Given the description of an element on the screen output the (x, y) to click on. 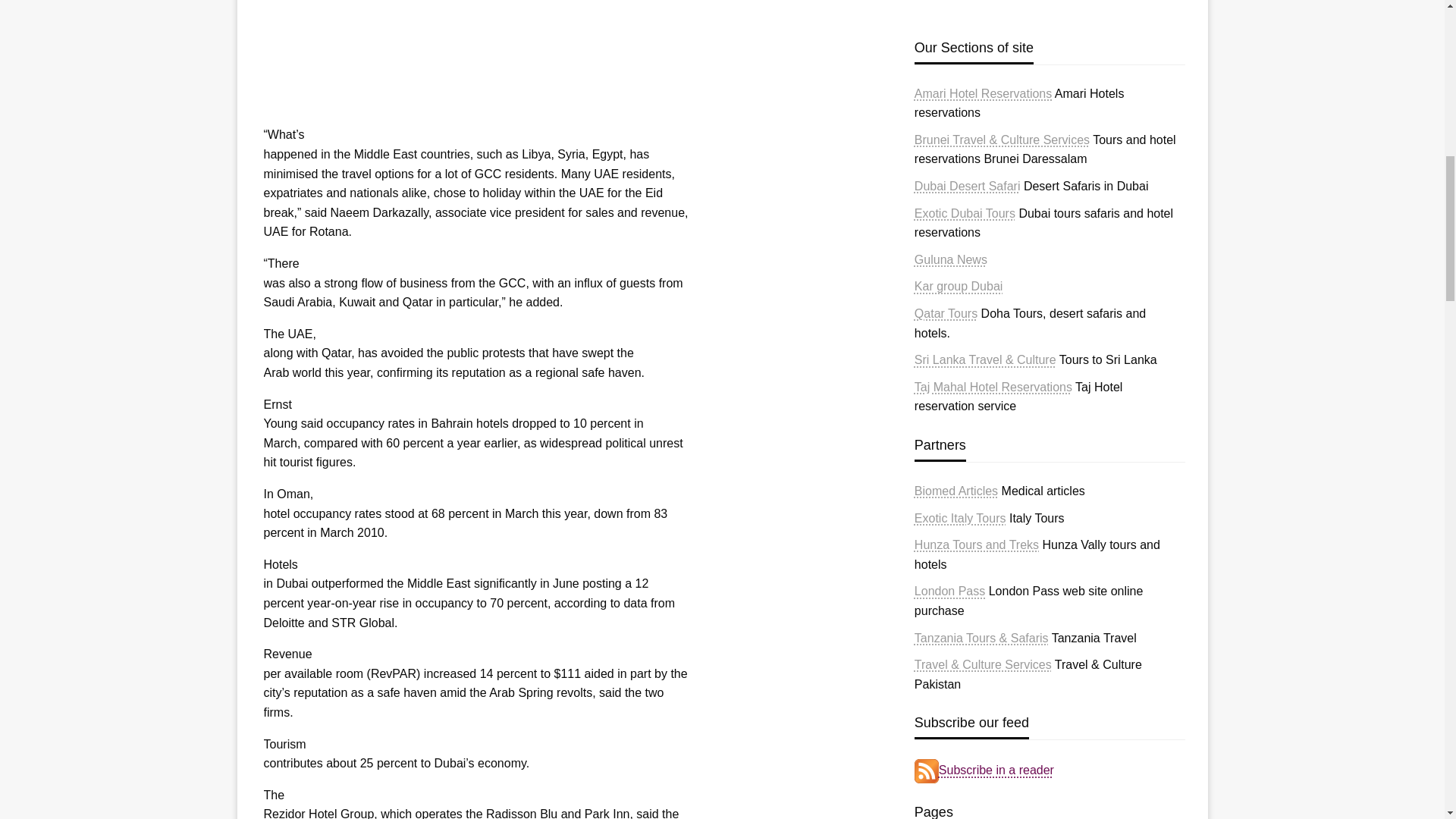
Tours and hotel reservations Brunei Daressalam (1001, 139)
Doha Tours, desert safaris and hotels. (945, 313)
Desert Safaris in Dubai (967, 185)
Dubai tours safaris and hotel reservations (964, 213)
Amari Hotels reservations (982, 92)
